Given the description of an element on the screen output the (x, y) to click on. 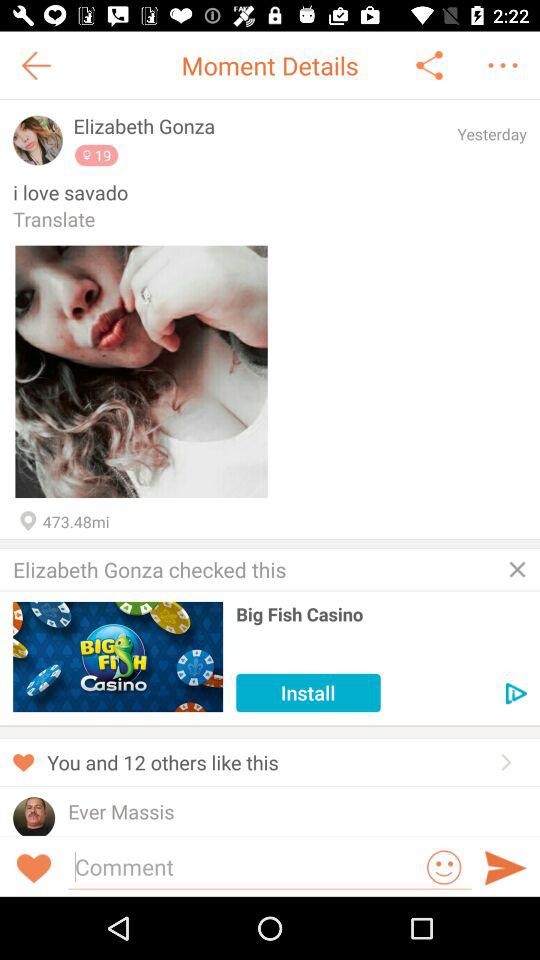
view advertisement details (515, 693)
